Given the description of an element on the screen output the (x, y) to click on. 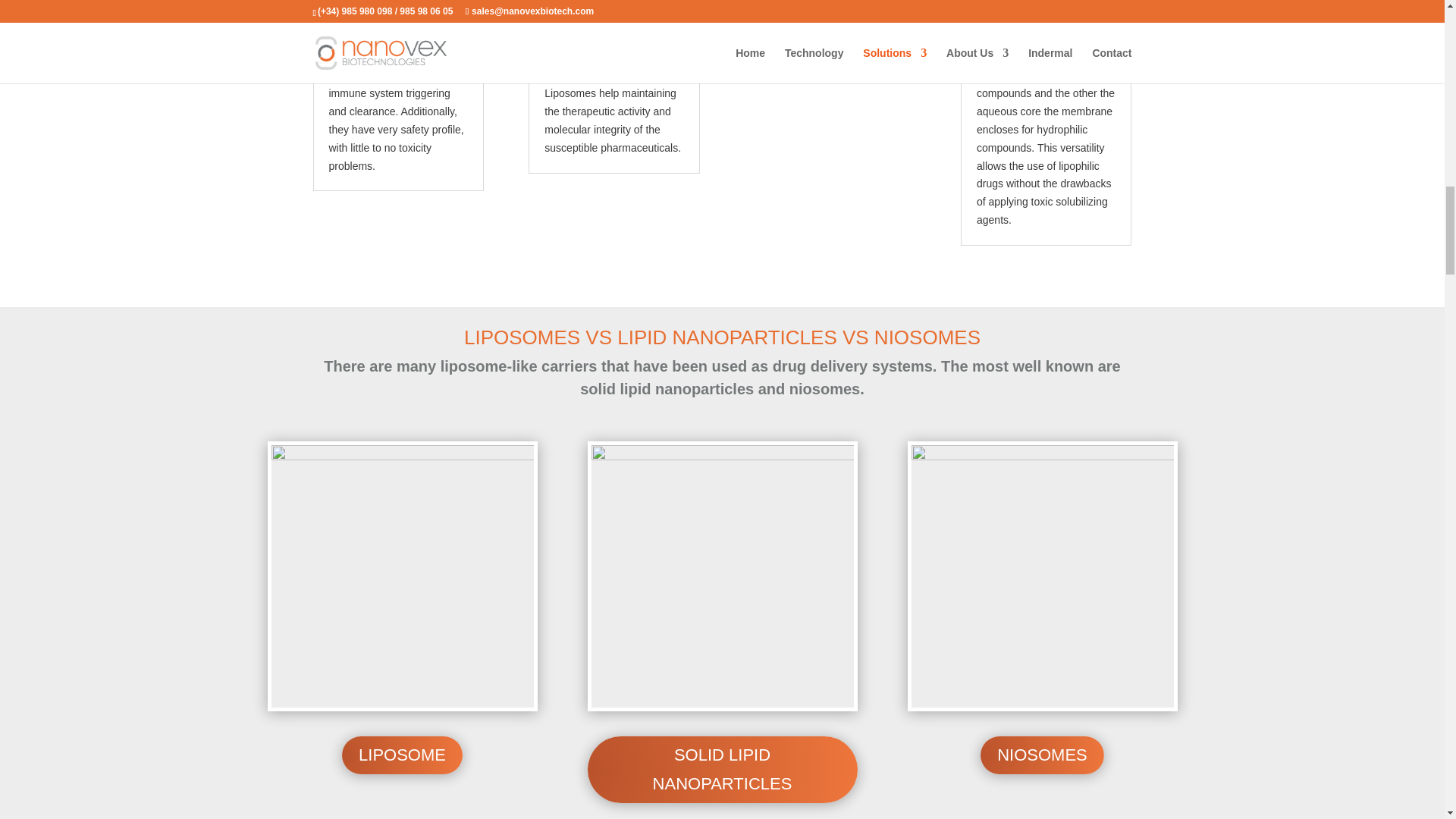
solid-lipid-nanoparticles (722, 576)
NIOSOMES (1041, 755)
liposome (402, 576)
niosomes (1042, 576)
LIPOSOME (402, 755)
SOLID LIPID NANOPARTICLES (721, 769)
